Given the description of an element on the screen output the (x, y) to click on. 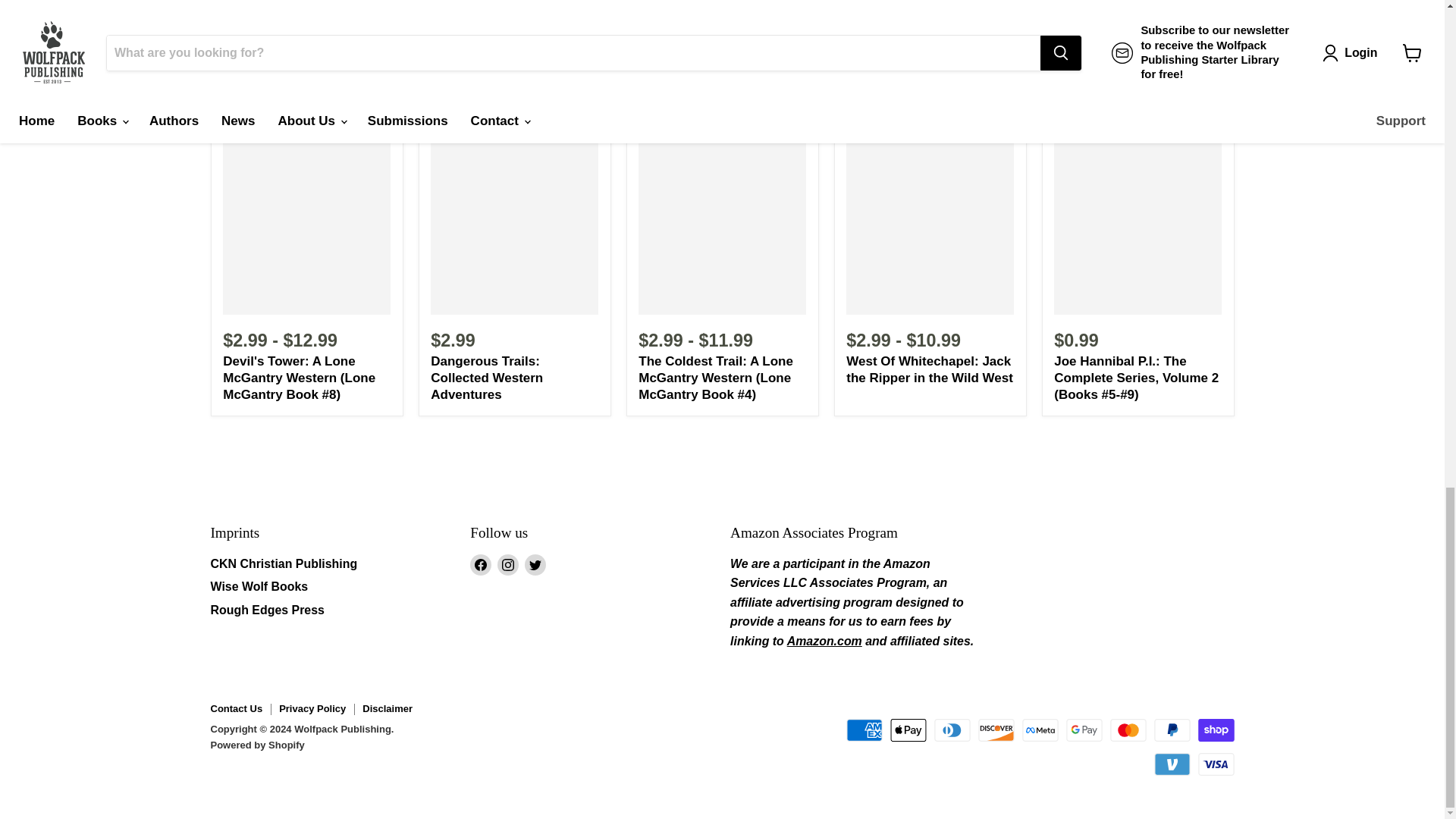
Instagram (507, 564)
Facebook (481, 564)
Twitter (535, 564)
Diners Club (952, 730)
Discover (996, 730)
Apple Pay (907, 730)
American Express (863, 730)
